Given the description of an element on the screen output the (x, y) to click on. 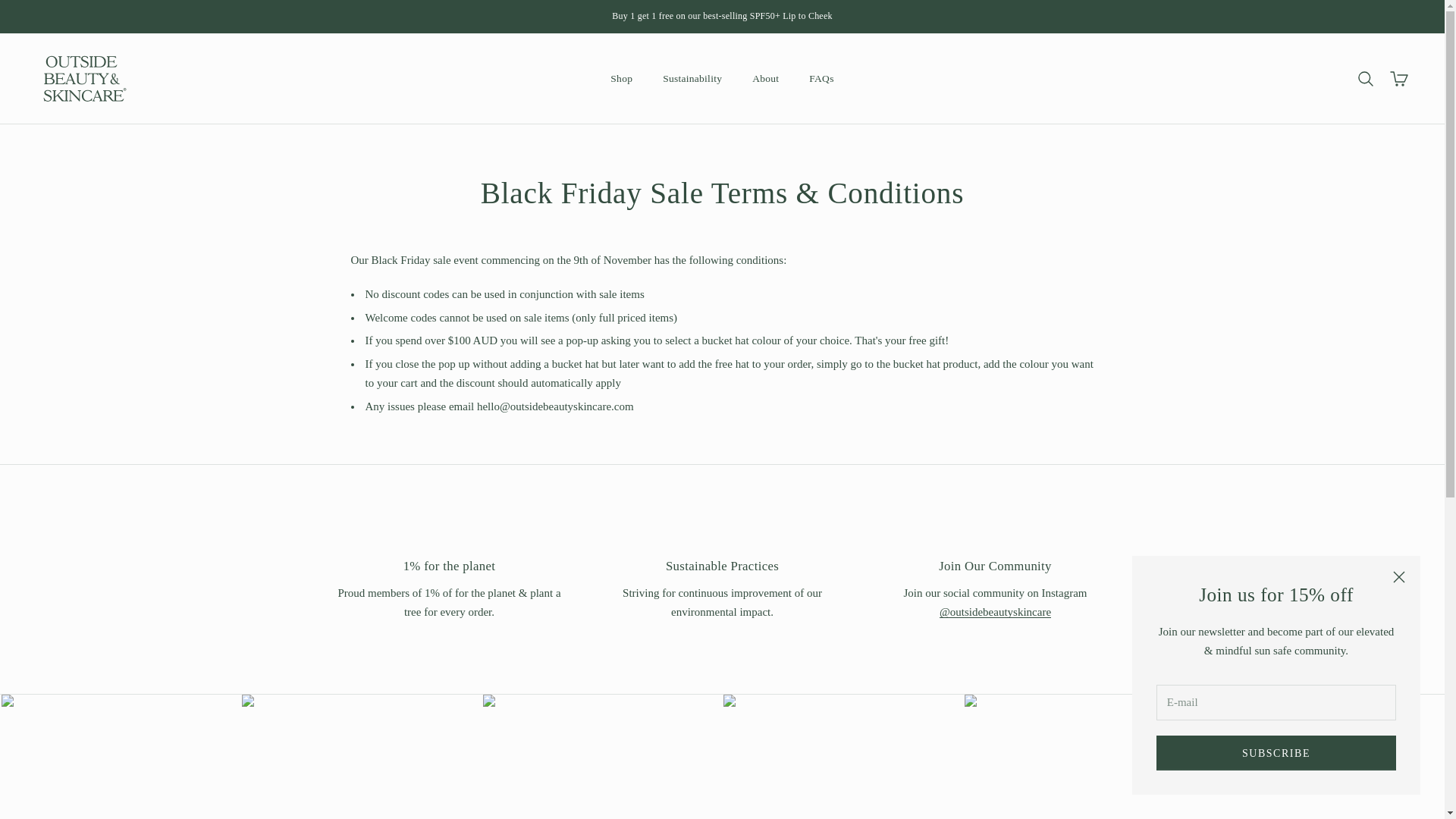
FAQs (820, 78)
Close (1399, 576)
Open cart (1398, 78)
Open search (1365, 78)
Sustainability (692, 78)
About (765, 78)
SUBSCRIBE (1276, 752)
